Given the description of an element on the screen output the (x, y) to click on. 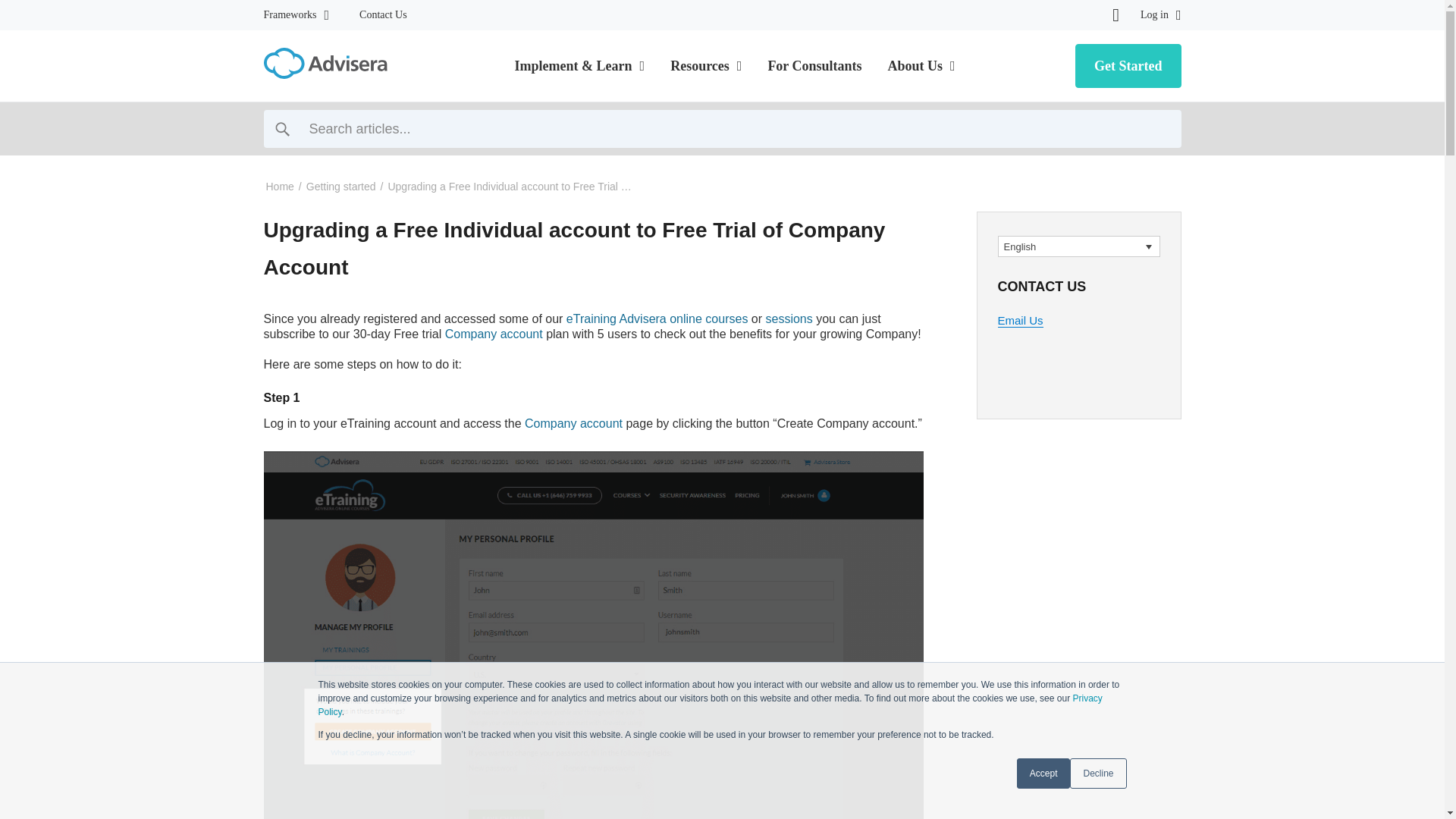
Accept (1043, 773)
Contact Us (383, 14)
Decline (1097, 773)
Search articles... (721, 128)
Privacy Policy (710, 704)
